Given the description of an element on the screen output the (x, y) to click on. 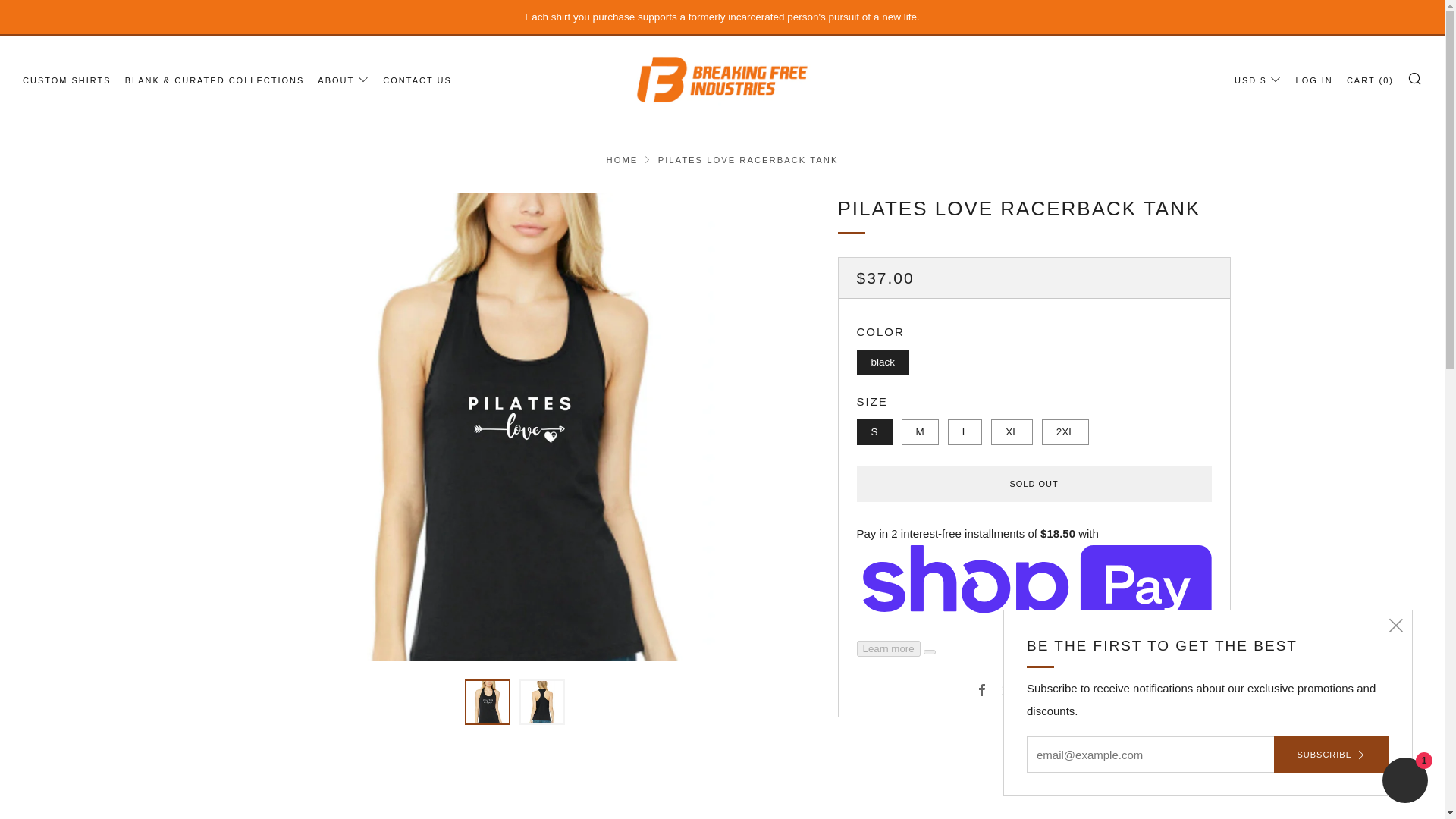
Shopify online store chat (1404, 781)
Home (623, 159)
